Given the description of an element on the screen output the (x, y) to click on. 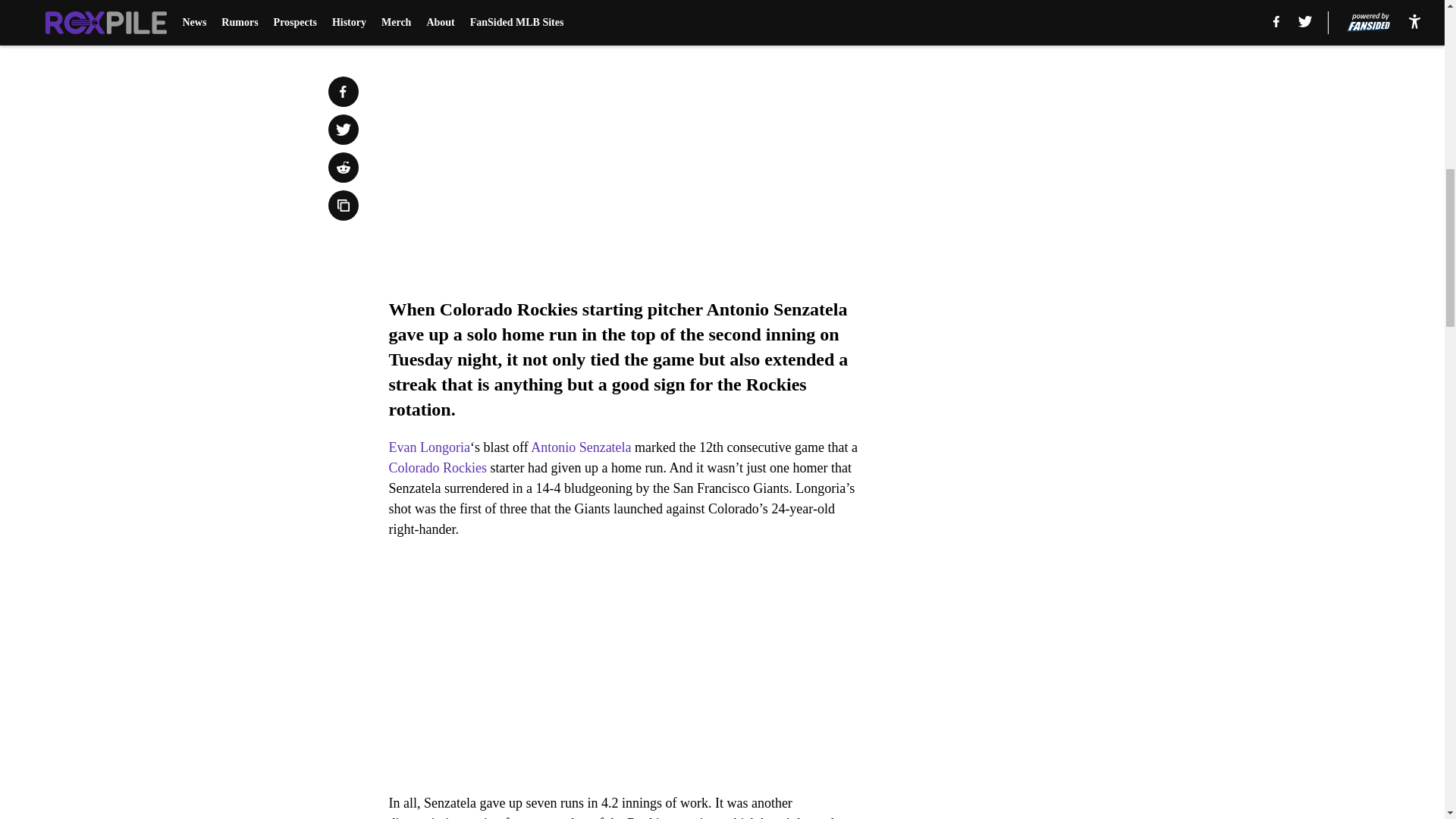
Colorado Rockies (437, 467)
Antonio Senzatela (580, 447)
Evan Longoria (428, 447)
